Given the description of an element on the screen output the (x, y) to click on. 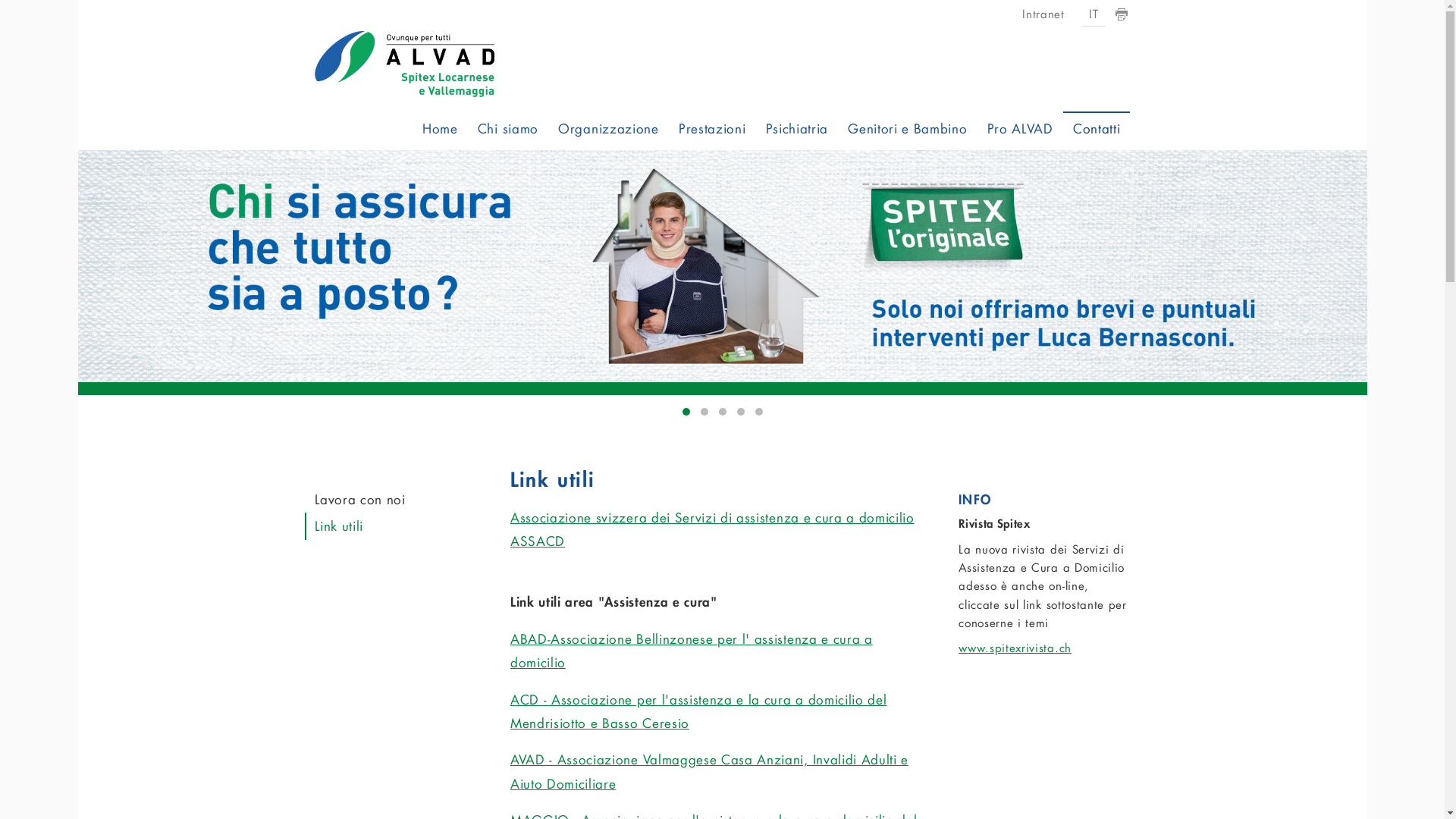
Chi siamo Element type: text (507, 130)
Lavora con noi Element type: text (386, 499)
Home Element type: text (439, 130)
Genitori e Bambino Element type: text (906, 130)
Contatti Element type: text (1096, 130)
Intranet Element type: text (1043, 14)
Link utili Element type: text (386, 525)
Pro ALVAD Element type: text (1020, 130)
Psichiatria Element type: text (796, 130)
Organizzazione Element type: text (608, 130)
Prestazioni Element type: text (711, 130)
www.spitexrivista.ch Element type: text (1014, 647)
